Given the description of an element on the screen output the (x, y) to click on. 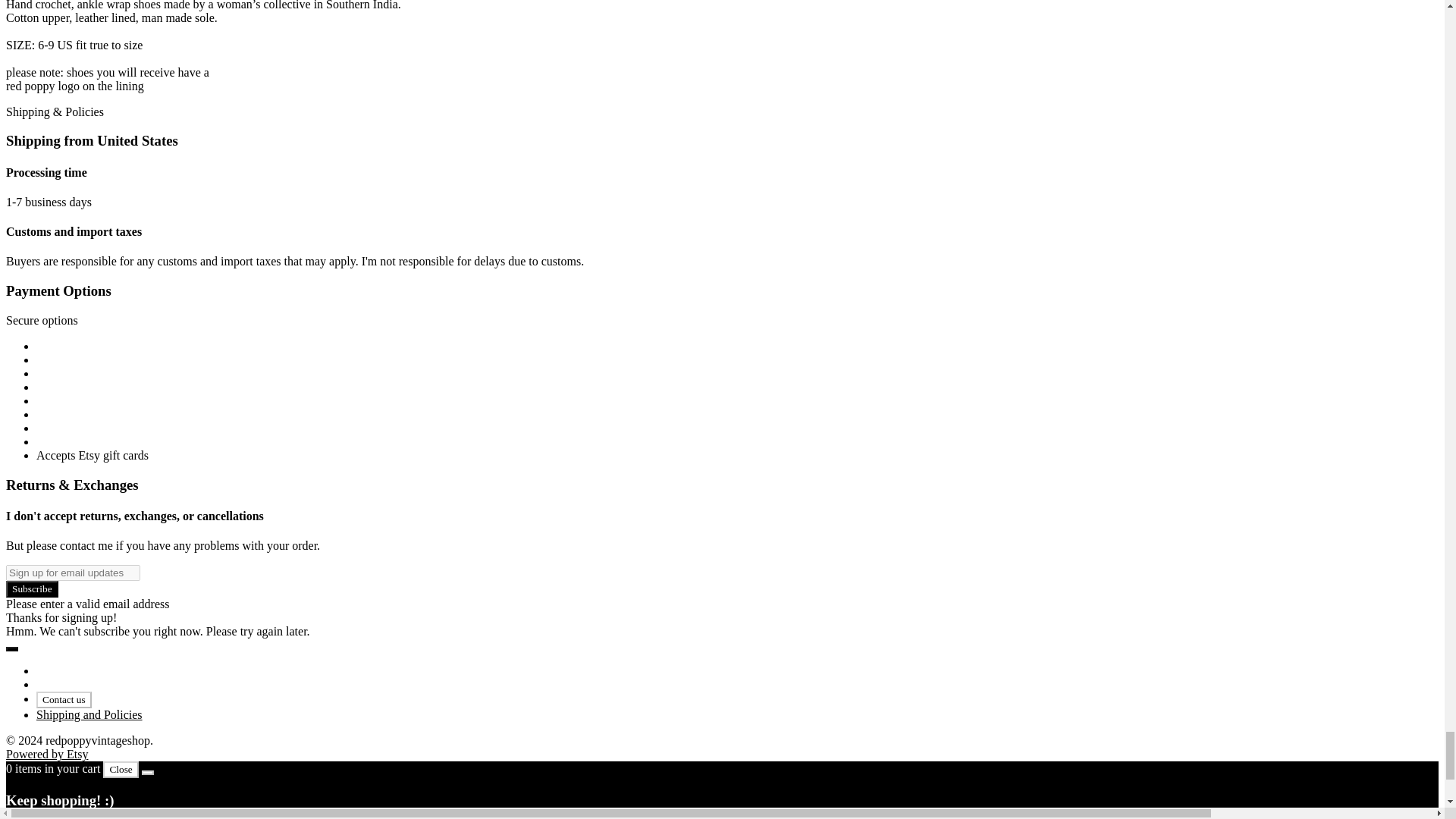
Close (120, 769)
Contact us (63, 699)
Subscribe (31, 588)
Subscribe (31, 588)
Powered by Etsy (46, 753)
Shipping and Policies (89, 714)
